Given the description of an element on the screen output the (x, y) to click on. 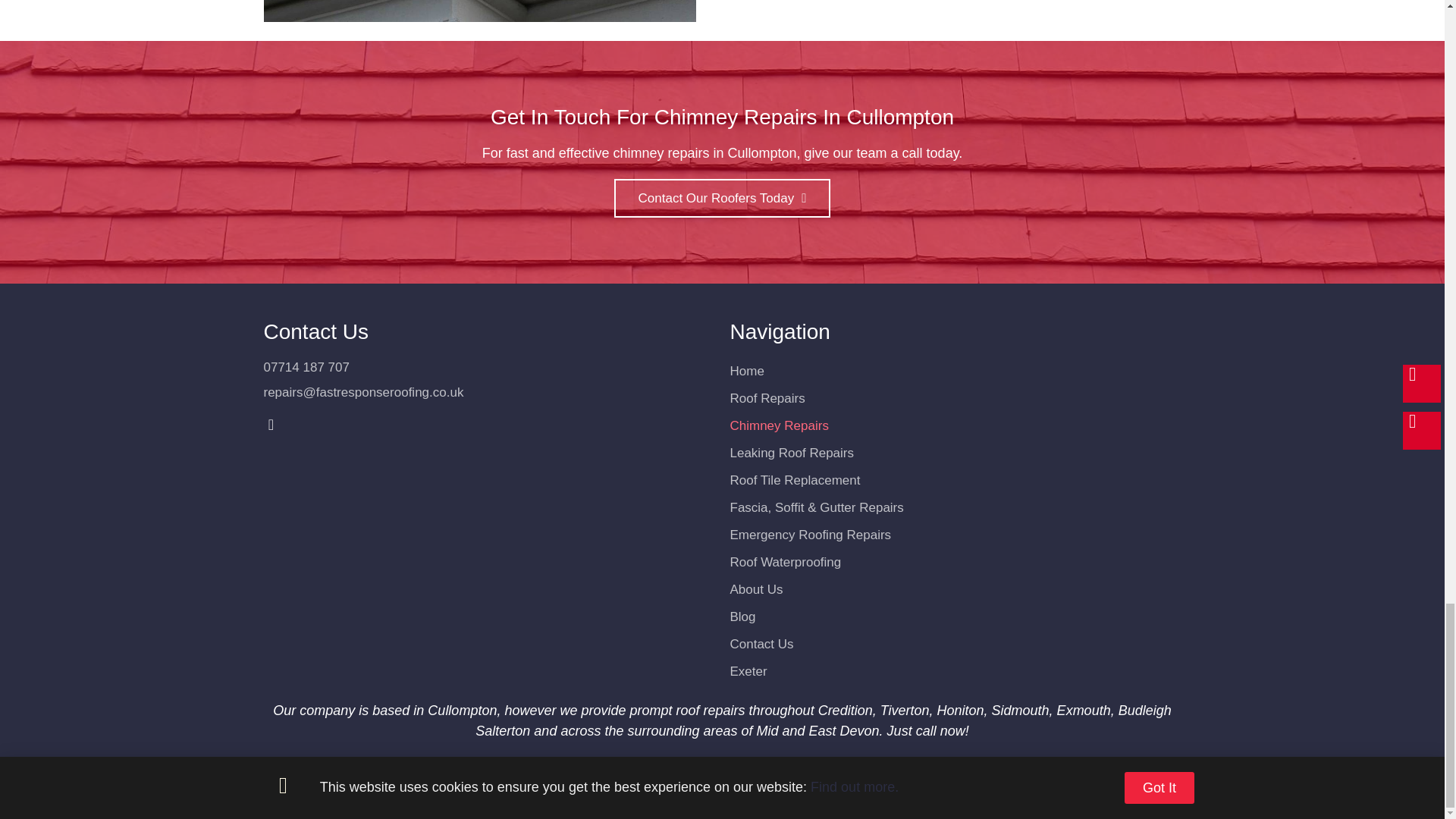
Roof Tile Replacement (954, 480)
Chimney Repairs (954, 425)
Emergency Roofing Repairs (954, 534)
Roof Repairs (954, 398)
Leaking Roof Repairs (954, 452)
Home (954, 370)
Contact Our Roofers Today (722, 198)
07714 187 707 (488, 367)
